Given the description of an element on the screen output the (x, y) to click on. 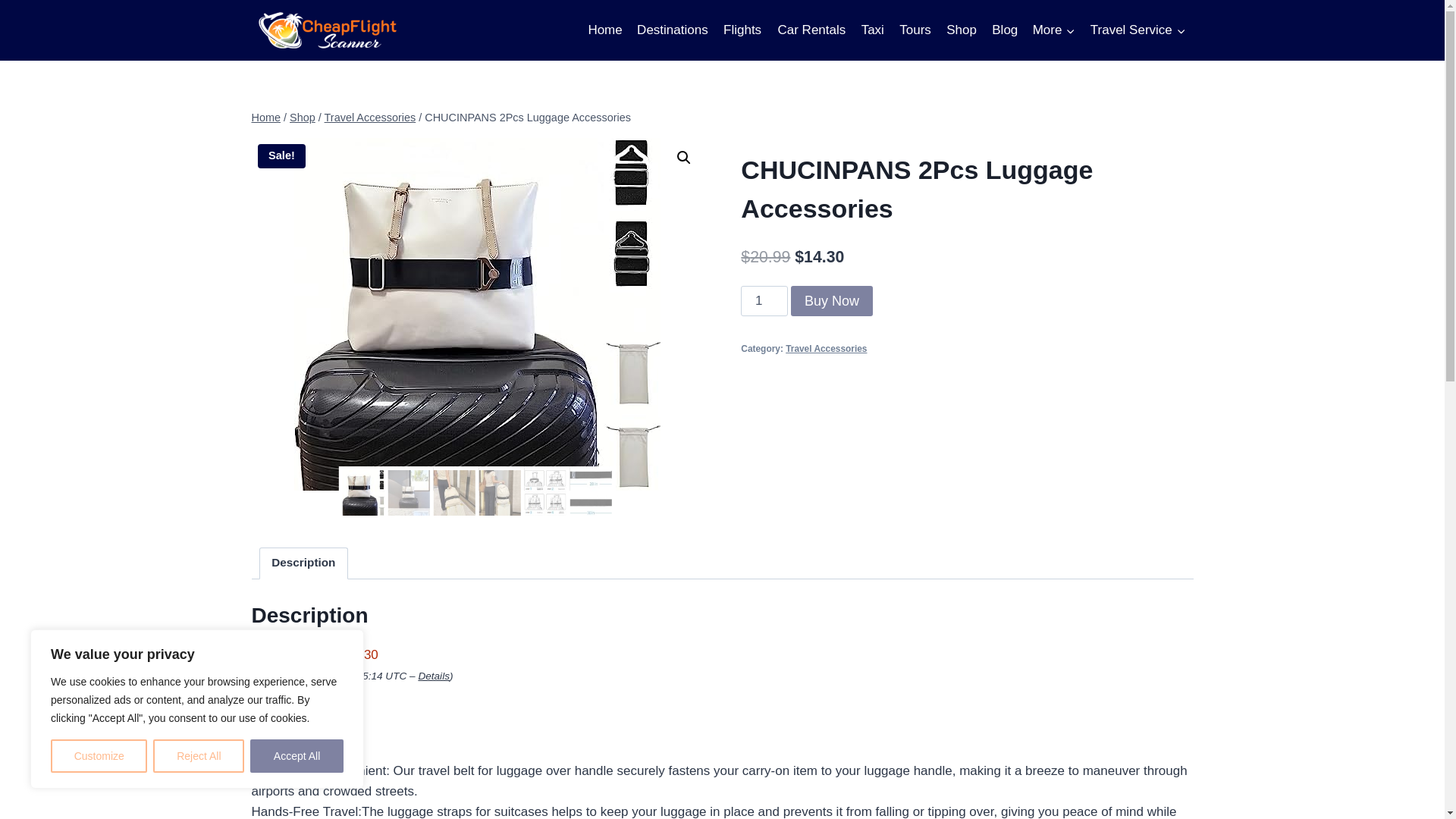
Blog (1004, 30)
Reject All (198, 756)
Home (604, 30)
Taxi (872, 30)
Car Rentals (811, 30)
Flights (742, 30)
Customize (98, 756)
Shop (961, 30)
Tours (915, 30)
Destinations (672, 30)
1 (764, 300)
Travel Service (1137, 30)
Accept All (296, 756)
More (1054, 30)
